Given the description of an element on the screen output the (x, y) to click on. 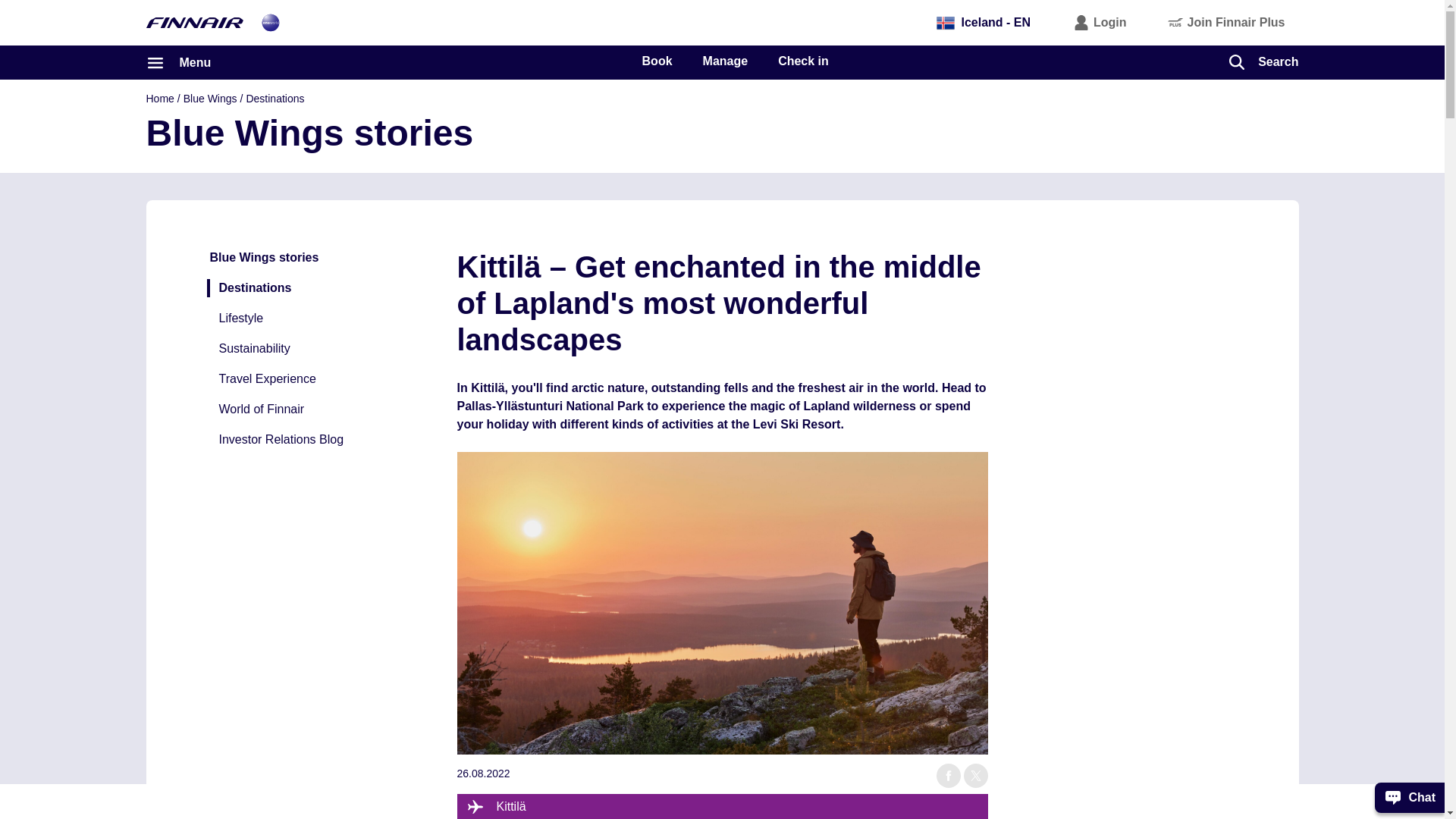
Join Finnair Plus (1227, 22)
Login (1100, 22)
Manage (725, 61)
Menu (178, 62)
Check in (802, 61)
Book (657, 61)
Search (1262, 61)
Iceland - EN (983, 22)
